Given the description of an element on the screen output the (x, y) to click on. 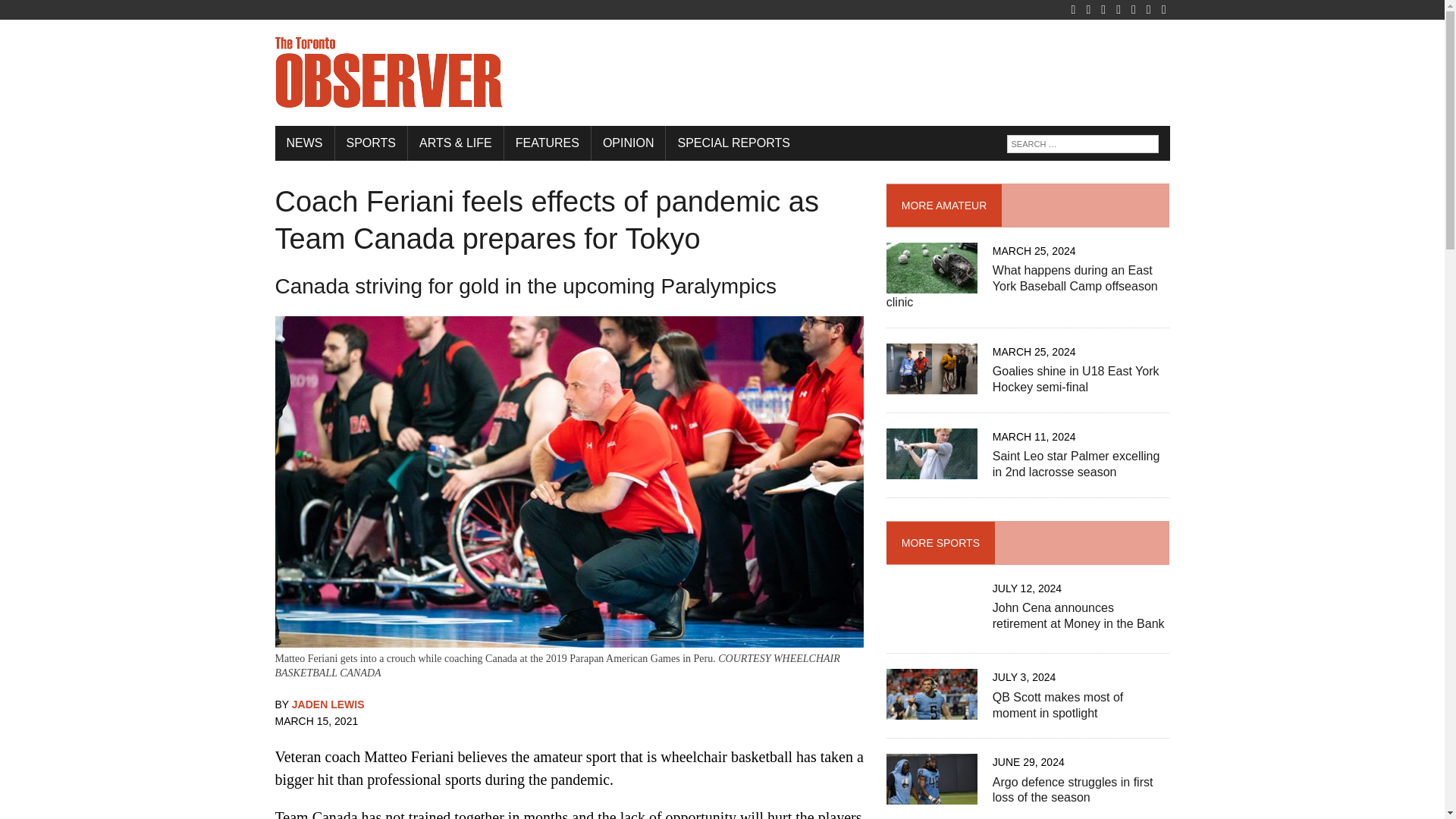
Saint Leo star Palmer excelling in 2nd lacrosse season (1076, 463)
John Cena announces retirement at Money in the Bank (931, 626)
The Toronto Observer (722, 72)
Posts by Jaden Lewis (328, 704)
Goalies shine in U18 East York Hockey semi-final (931, 383)
QB Scott makes most of moment in spotlight (931, 709)
Saint Leo star Palmer excelling in 2nd lacrosse season (931, 468)
Goalies shine in U18 East York Hockey semi-final (1075, 378)
John Cena announces retirement at Money in the Bank (1078, 615)
